Given the description of an element on the screen output the (x, y) to click on. 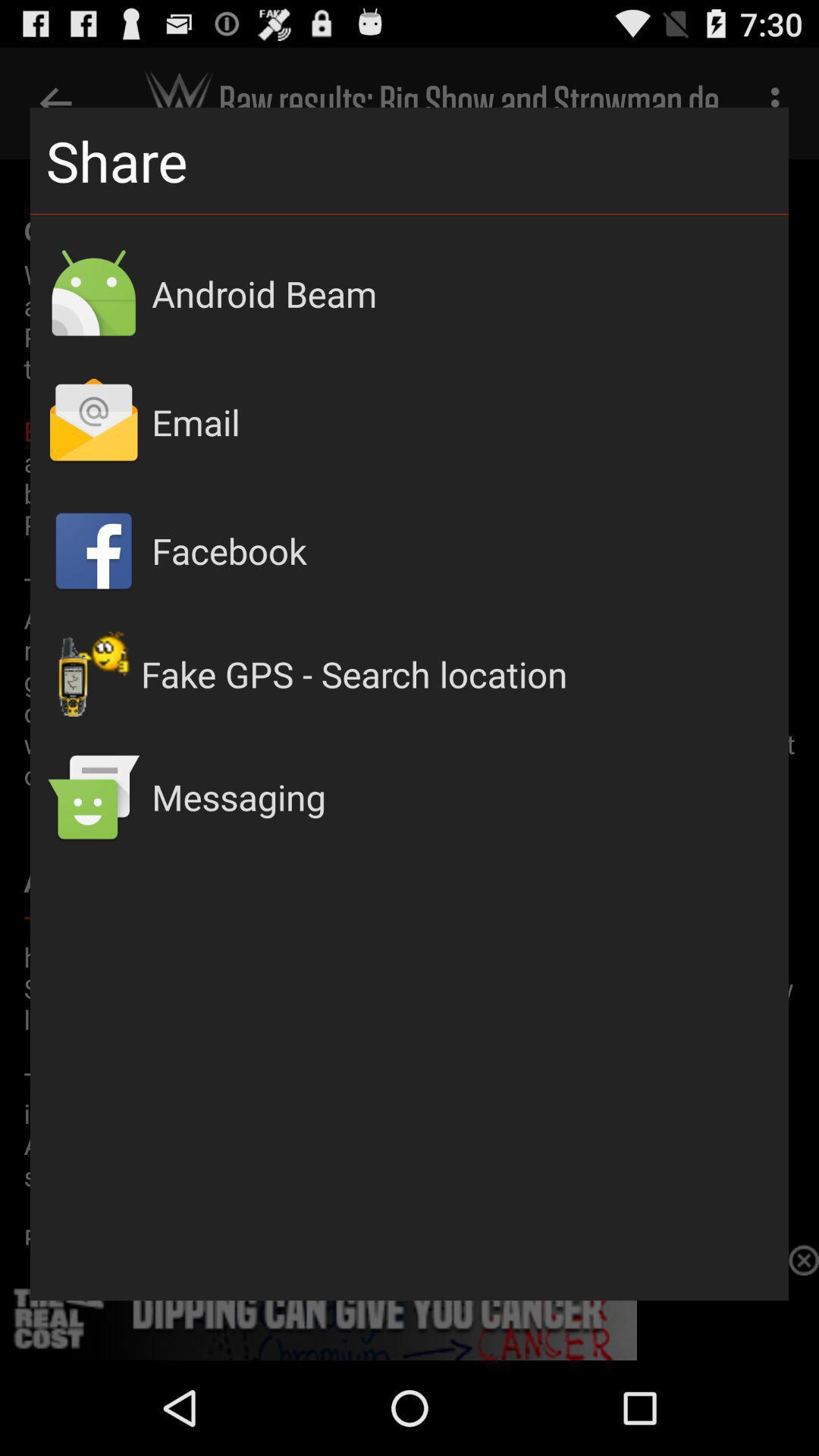
turn off android beam icon (461, 293)
